Given the description of an element on the screen output the (x, y) to click on. 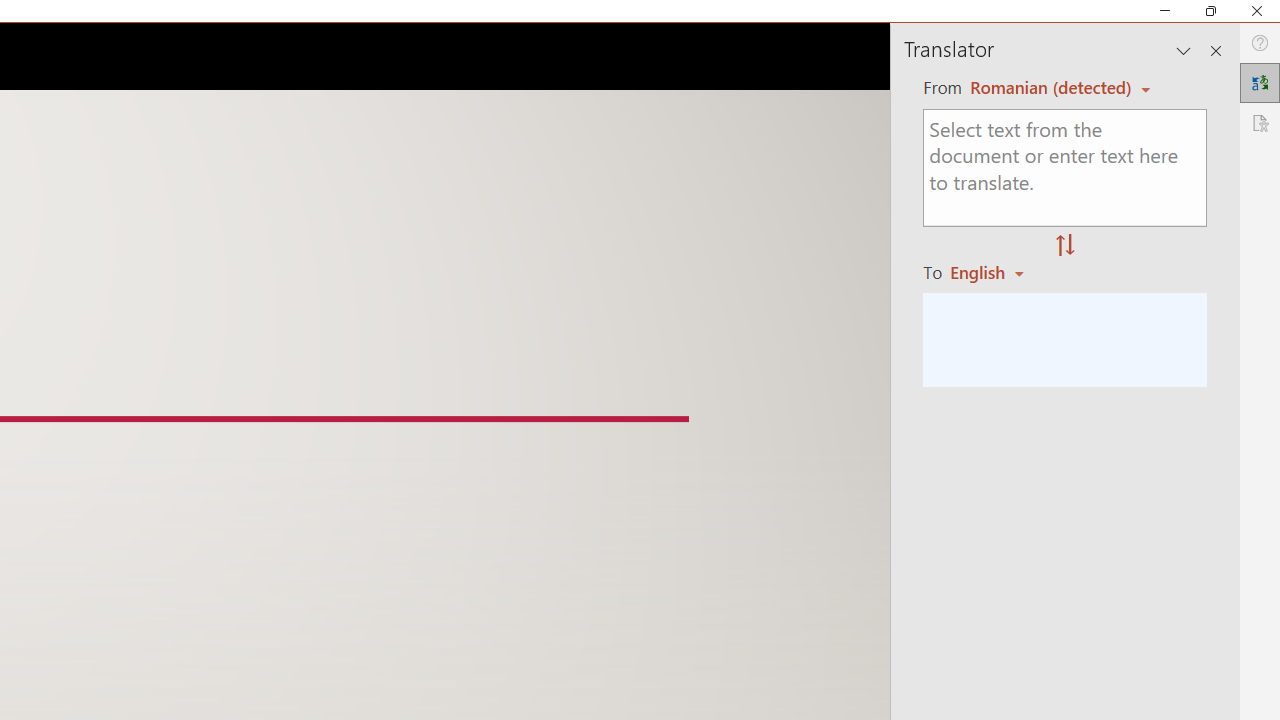
Close pane (1215, 50)
Romanian (994, 272)
Romanian (detected) (1047, 87)
Help (1260, 43)
Swap "from" and "to" languages. (1065, 245)
Accessibility (1260, 122)
Task Pane Options (1183, 50)
Translator (1260, 82)
